Given the description of an element on the screen output the (x, y) to click on. 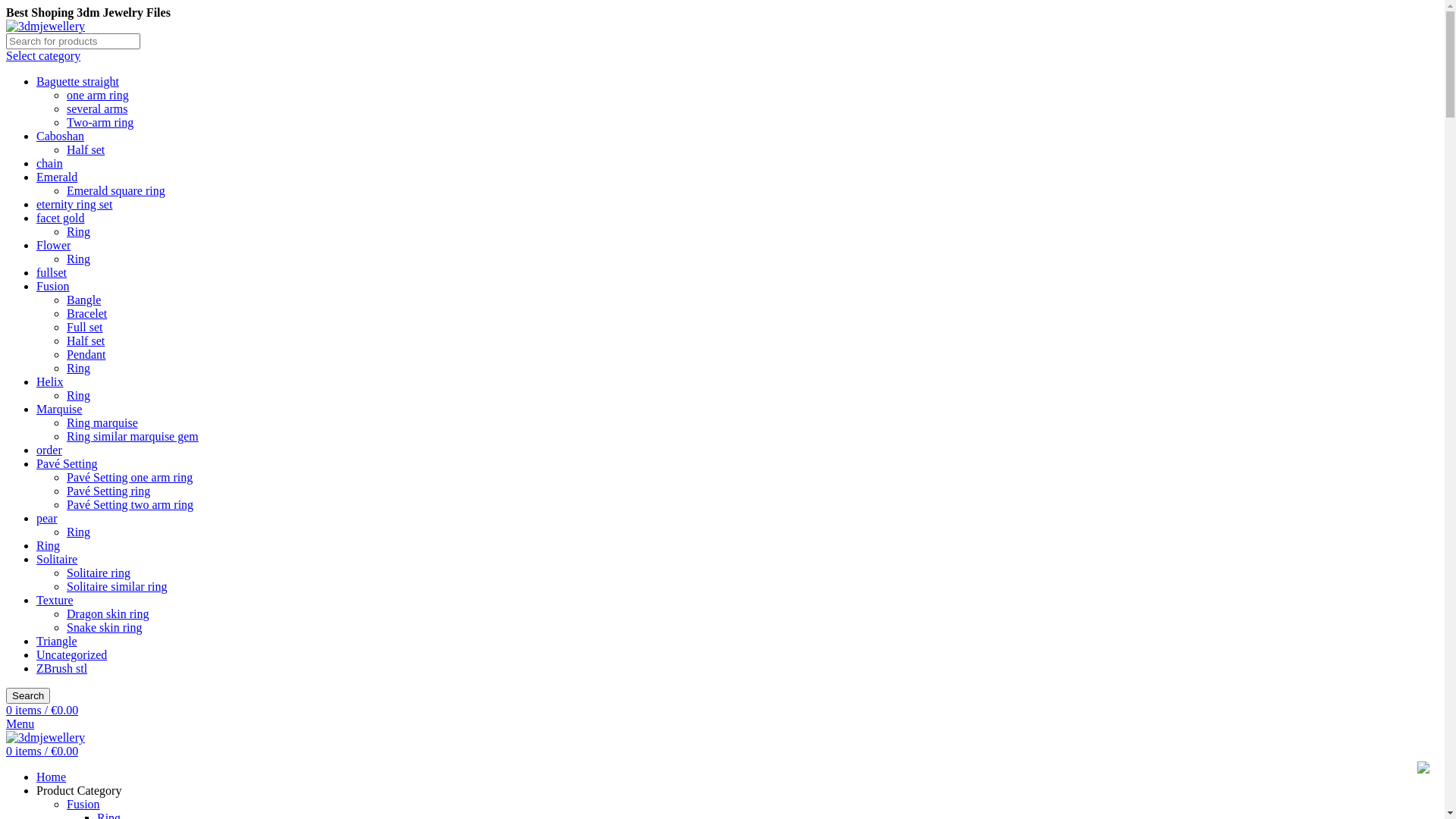
order Element type: text (49, 449)
Select category Element type: text (43, 55)
Solitaire ring Element type: text (98, 572)
eternity ring set Element type: text (74, 203)
Search for products Element type: hover (73, 41)
Snake skin ring Element type: text (104, 627)
Flower Element type: text (53, 244)
Home Element type: text (50, 776)
Menu Element type: text (20, 723)
Two-arm ring Element type: text (99, 122)
Solitaire Element type: text (56, 558)
one arm ring Element type: text (97, 94)
Caboshan Element type: text (60, 135)
Ring similar marquise gem Element type: text (132, 435)
Ring Element type: text (78, 231)
chain Element type: text (49, 162)
Ring Element type: text (78, 395)
Solitaire similar ring Element type: text (116, 586)
Fusion Element type: text (83, 803)
several arms Element type: text (96, 108)
Marquise Element type: text (58, 408)
ZBrush stl Element type: text (61, 668)
Emerald square ring Element type: text (115, 190)
Half set Element type: text (85, 340)
Bangle Element type: text (83, 299)
Ring Element type: text (78, 531)
fullset Element type: text (51, 272)
facet gold Element type: text (60, 217)
Pendant Element type: text (86, 354)
Fusion Element type: text (52, 285)
Ring marquise Element type: text (102, 422)
Baguette straight Element type: text (77, 81)
Dragon skin ring Element type: text (107, 613)
Ring Element type: text (47, 545)
pear Element type: text (46, 517)
Emerald Element type: text (56, 176)
Triangle Element type: text (56, 640)
Search Element type: text (28, 695)
Half set Element type: text (85, 149)
Product Category Element type: text (78, 790)
Ring Element type: text (78, 367)
Texture Element type: text (54, 599)
Ring Element type: text (78, 258)
Uncategorized Element type: text (71, 654)
Bracelet Element type: text (86, 313)
Full set Element type: text (84, 326)
Helix Element type: text (49, 381)
